Given the description of an element on the screen output the (x, y) to click on. 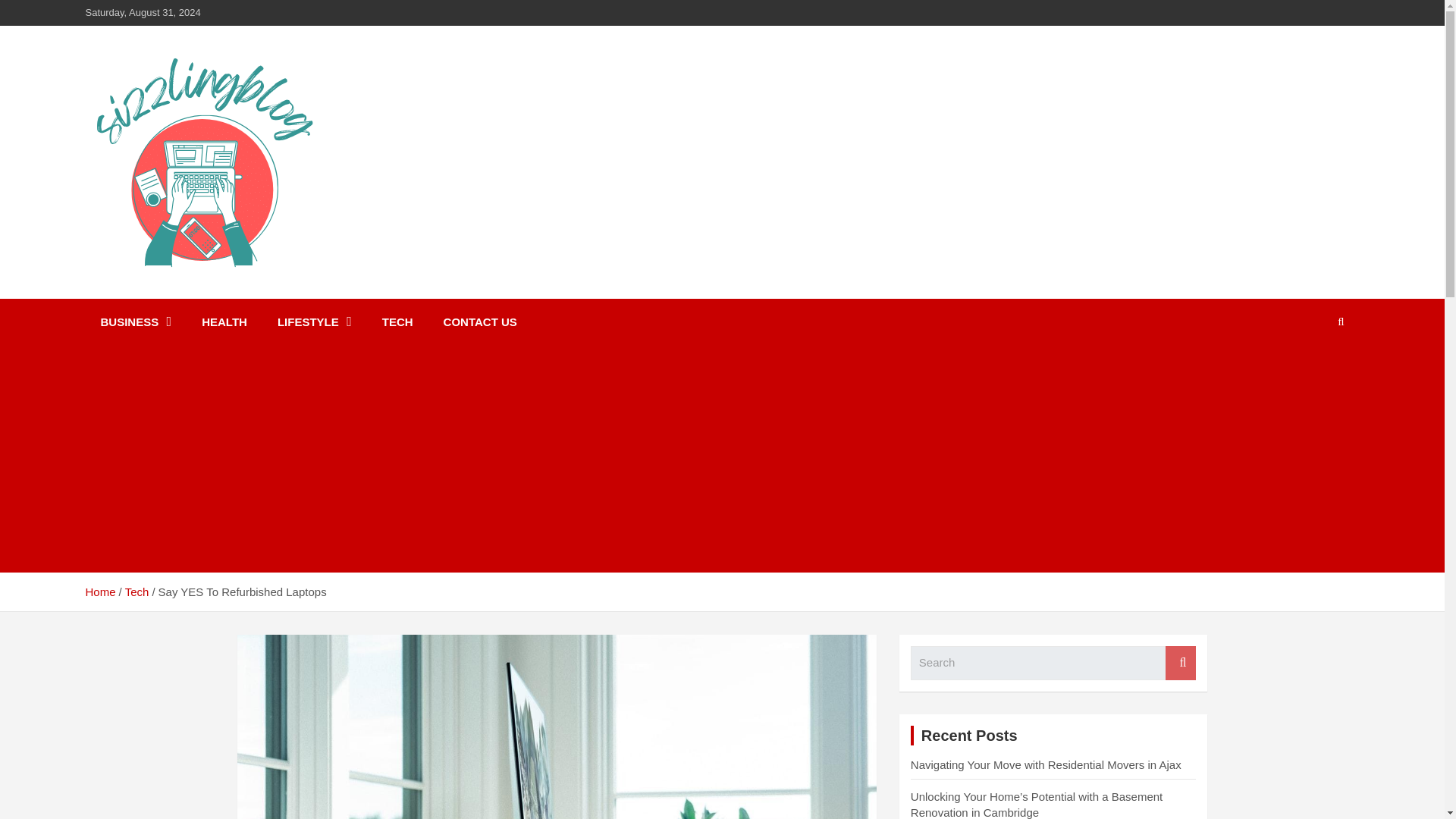
TECH (397, 321)
HEALTH (224, 321)
Home (99, 591)
Tech (137, 591)
BUSINESS (135, 321)
Sizzling Blog (178, 295)
Navigating Your Move with Residential Movers in Ajax (1045, 764)
CONTACT US (480, 321)
LIFESTYLE (314, 321)
